Given the description of an element on the screen output the (x, y) to click on. 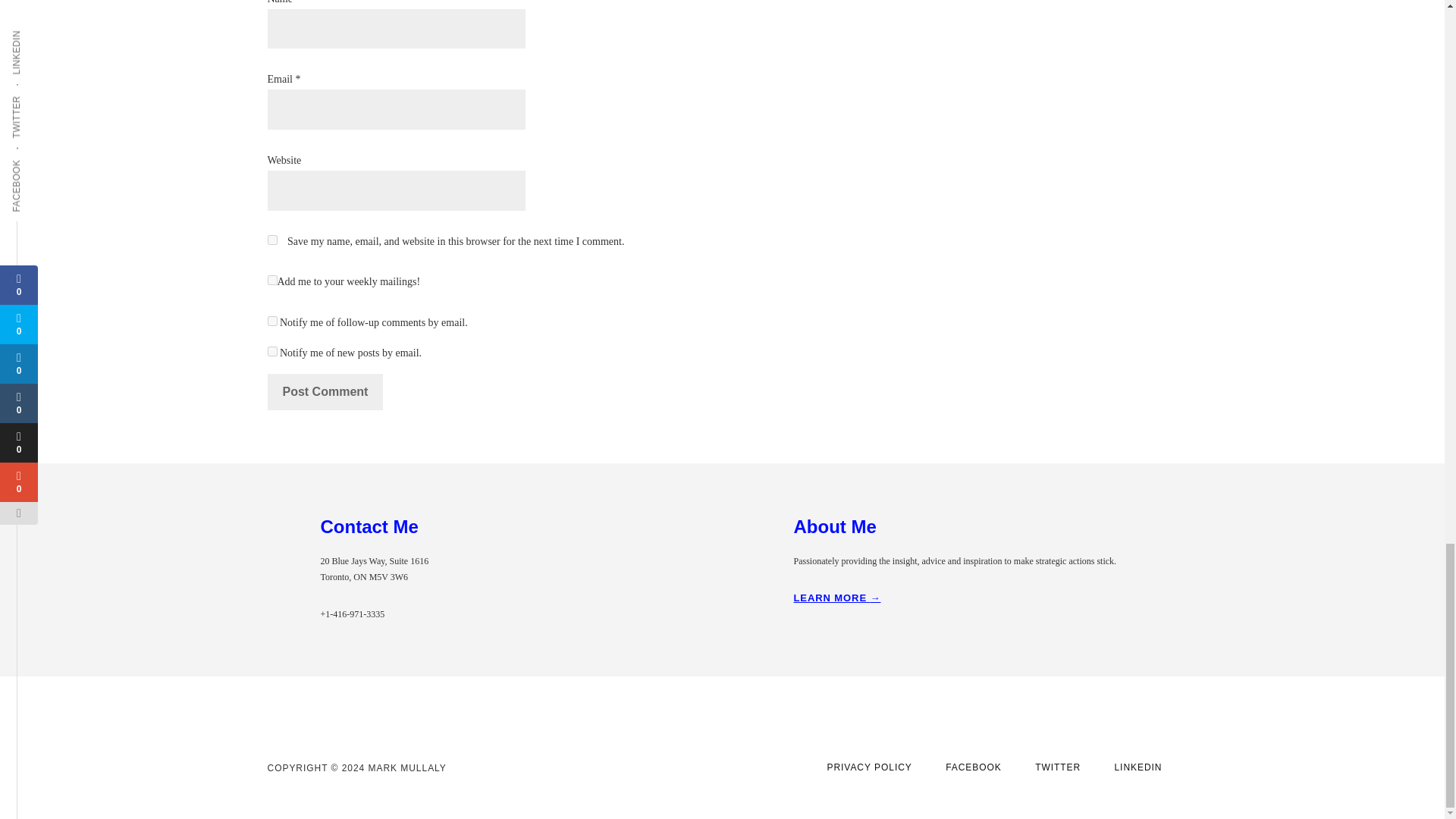
Post Comment (324, 391)
1 (271, 280)
subscribe (271, 351)
yes (271, 239)
subscribe (271, 320)
